Given the description of an element on the screen output the (x, y) to click on. 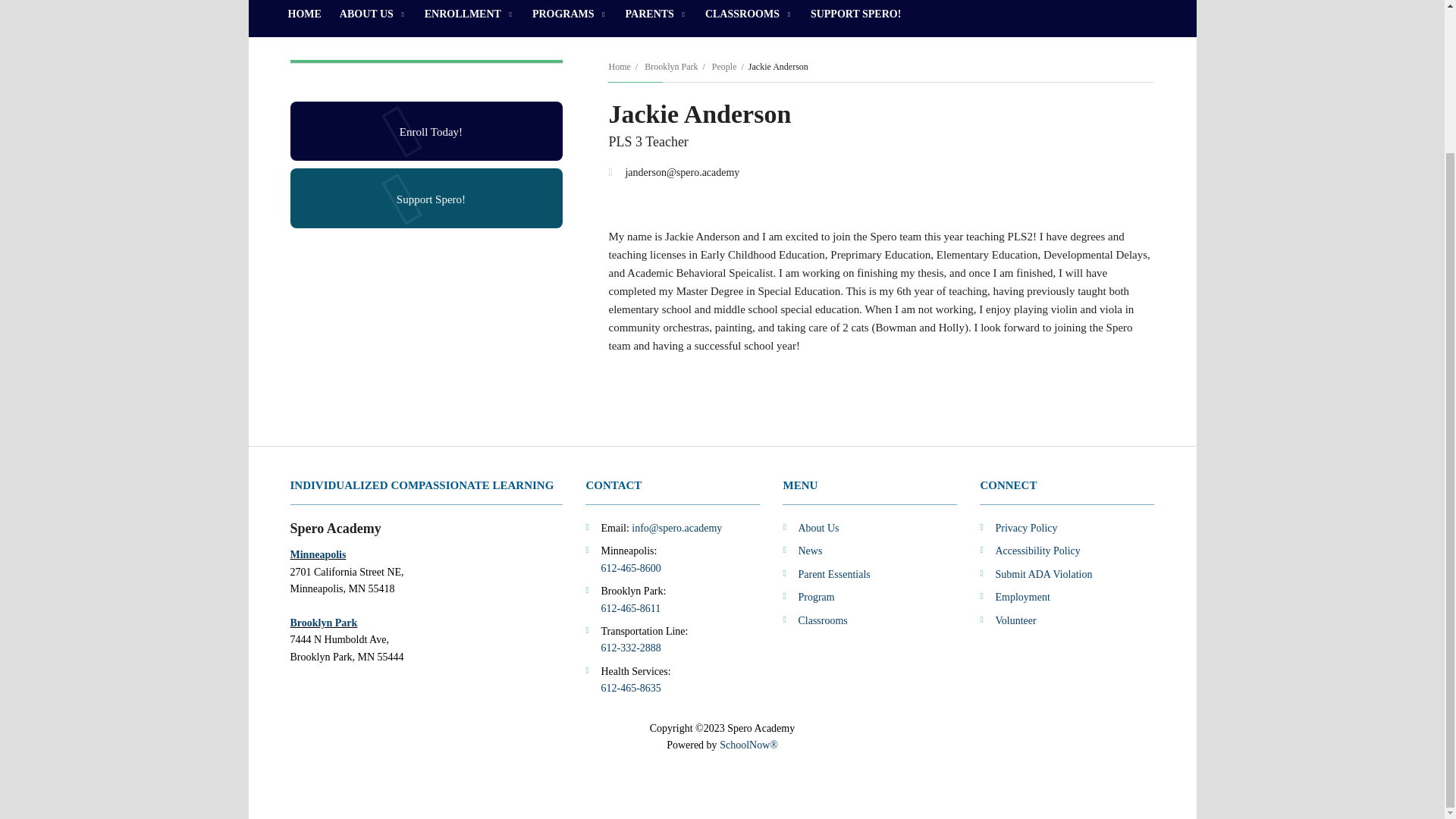
ENROLLMENT (468, 18)
PROGRAMS (568, 18)
HOME (304, 18)
ABOUT US (372, 18)
